Given the description of an element on the screen output the (x, y) to click on. 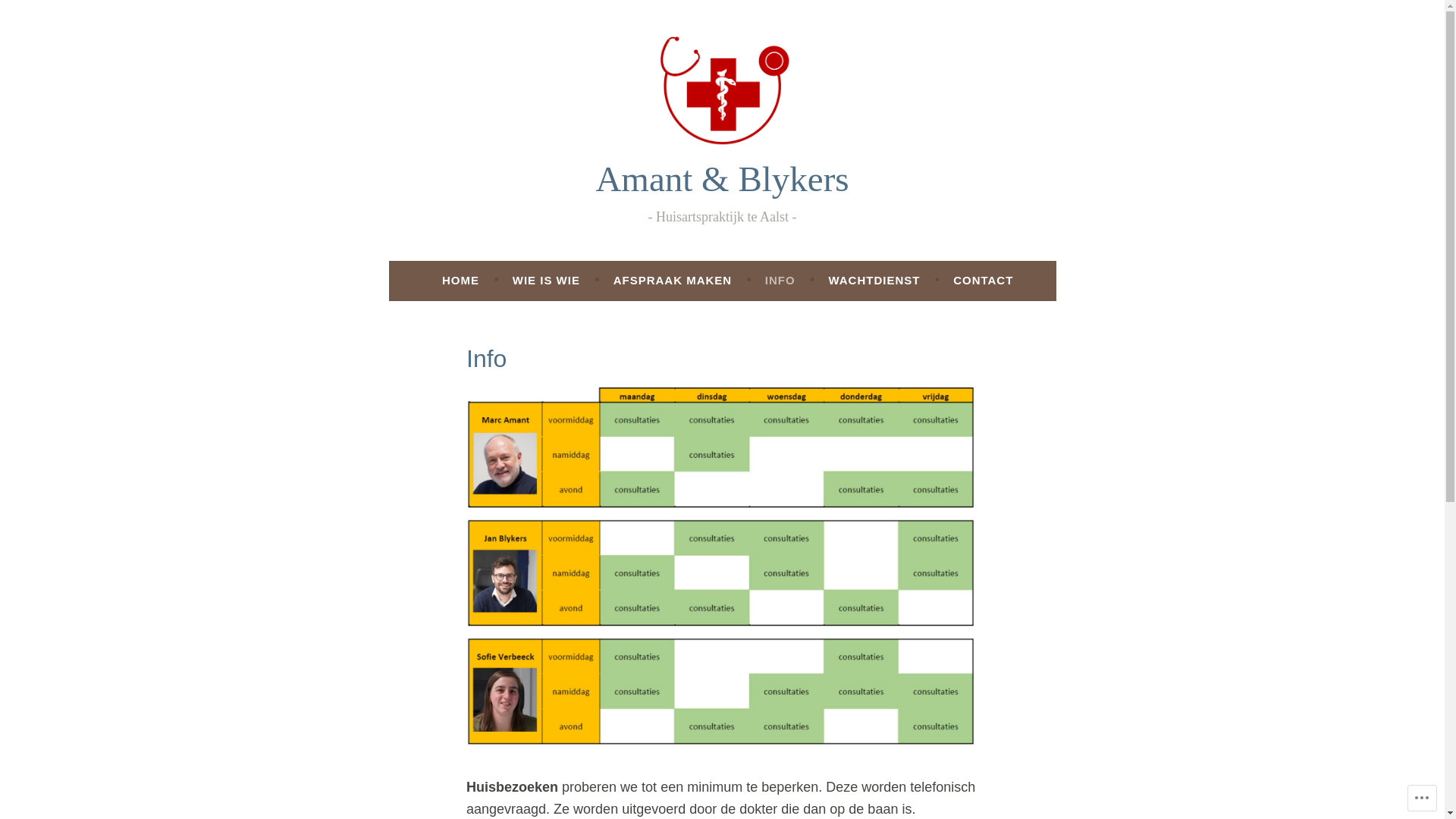
AFSPRAAK MAKEN Element type: text (672, 280)
WIE IS WIE Element type: text (546, 280)
HOME Element type: text (460, 280)
Amant & Blykers Element type: text (721, 178)
WACHTDIENST Element type: text (873, 280)
INFO Element type: text (780, 280)
CONTACT Element type: text (983, 280)
